Given the description of an element on the screen output the (x, y) to click on. 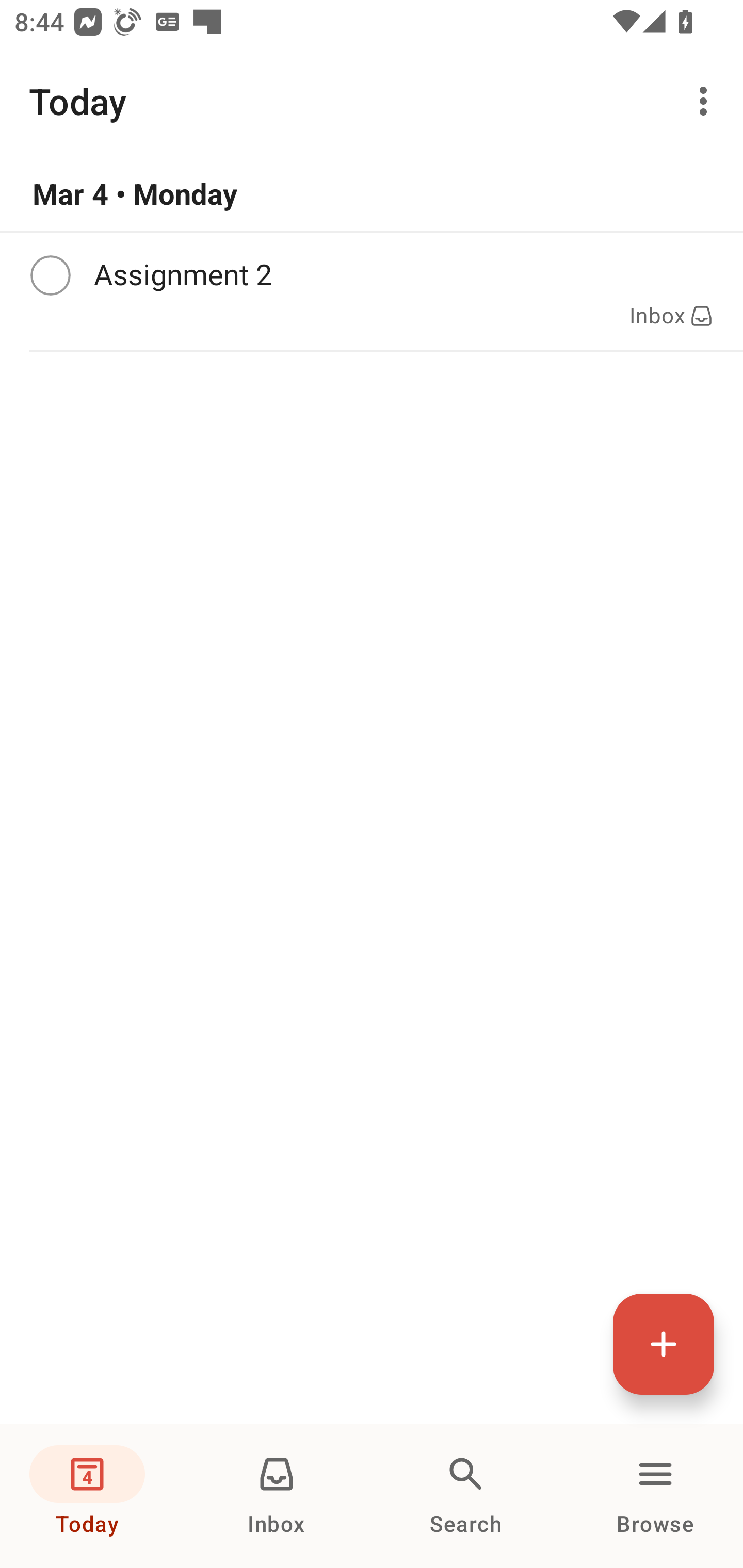
Today More options (371, 100)
More options (706, 101)
Mar 4 • Monday (371, 194)
Complete Assignment 2 Inbox (371, 291)
Complete (50, 275)
Quick add (663, 1343)
Inbox (276, 1495)
Search (465, 1495)
Browse (655, 1495)
